Given the description of an element on the screen output the (x, y) to click on. 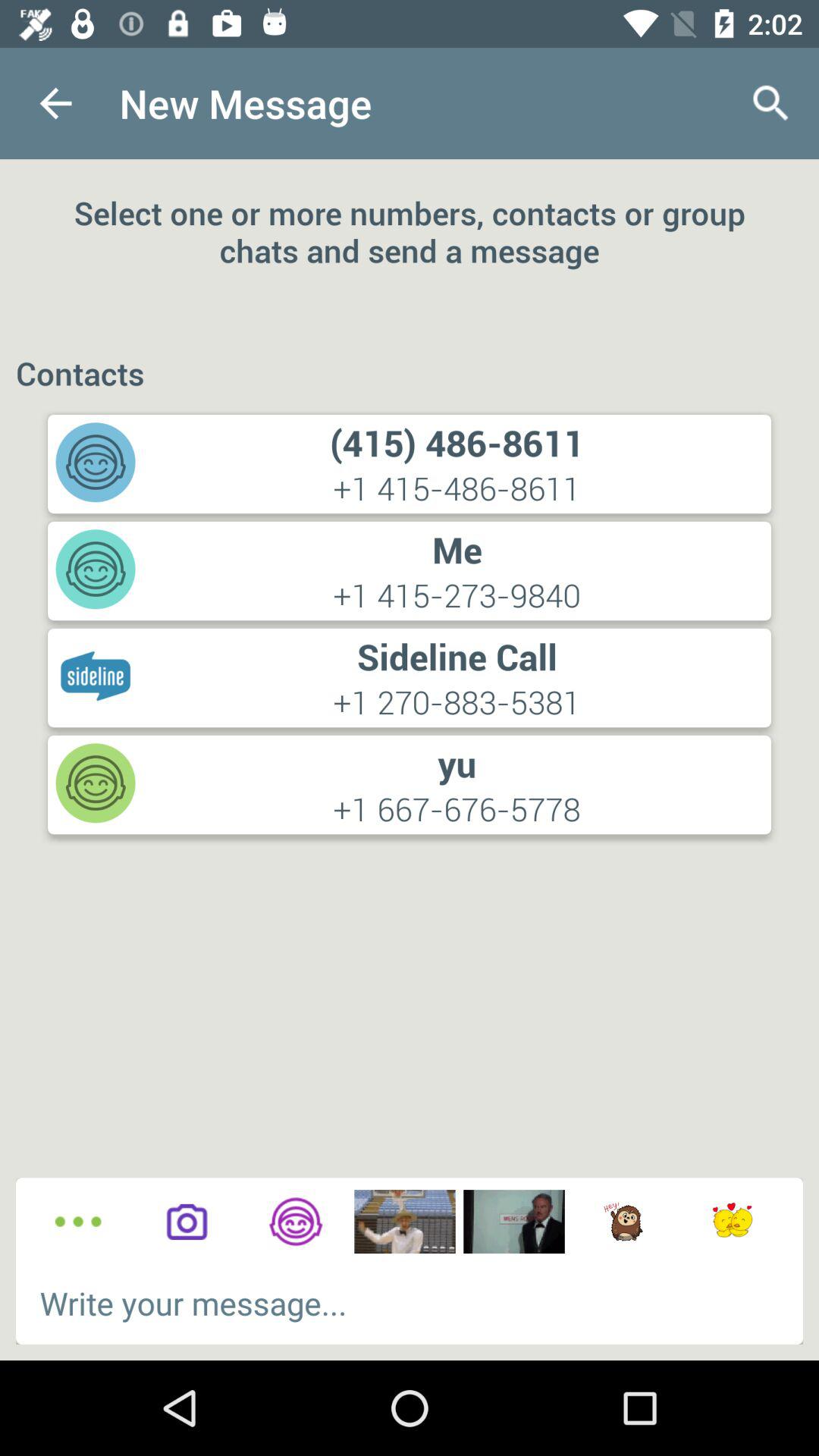
take or upload a photograph (186, 1221)
